Given the description of an element on the screen output the (x, y) to click on. 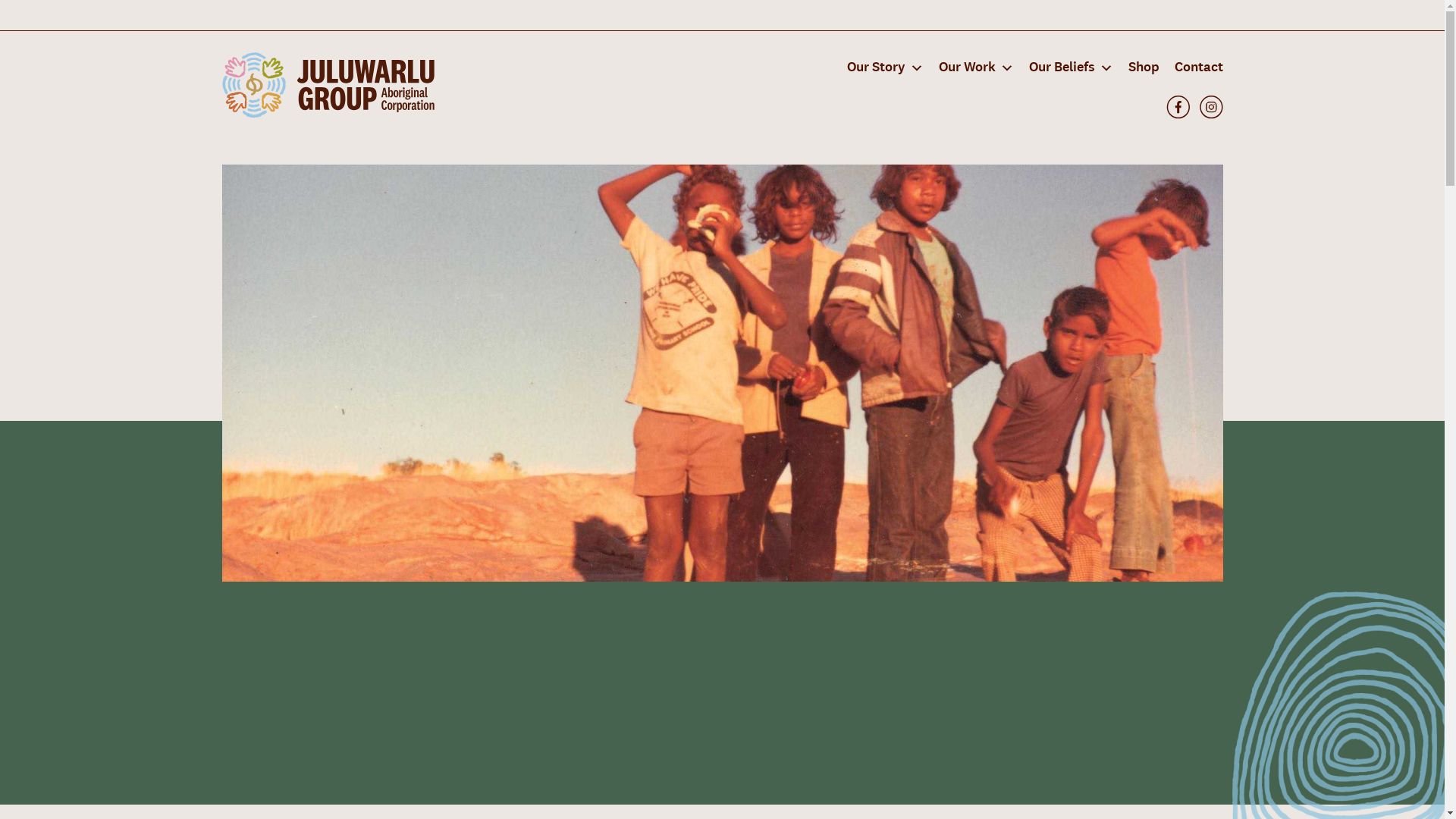
Shop Element type: text (1143, 67)
Our Beliefs Element type: text (1070, 67)
Our Work Element type: text (976, 67)
Our Story Element type: text (884, 67)
Contact Element type: text (1194, 67)
